Given the description of an element on the screen output the (x, y) to click on. 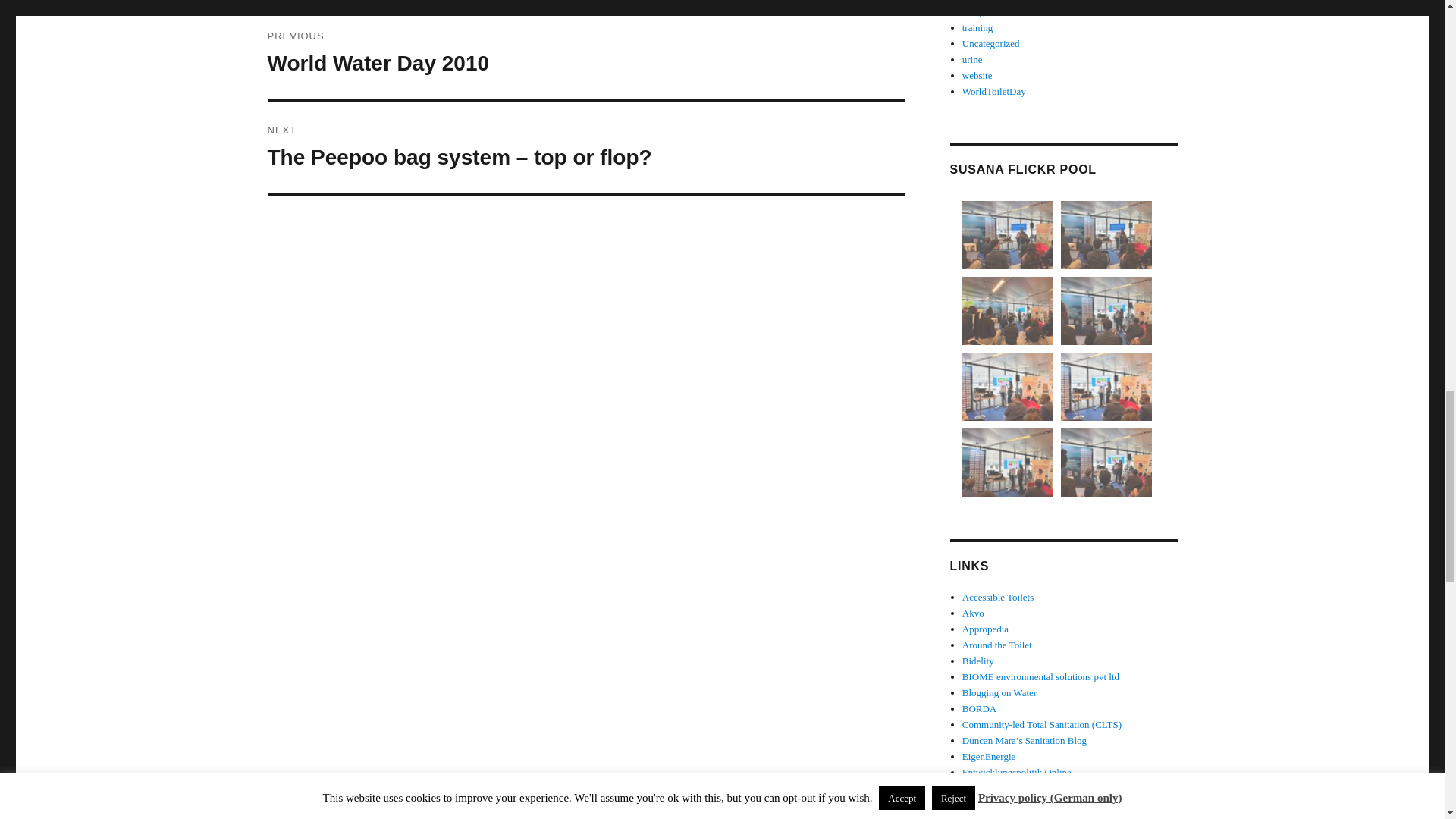
IMG-1496 (1106, 310)
IMG-1499 (1007, 386)
IMG-1492 (1106, 234)
IMG-1494 (1007, 310)
IMG-1493 (1007, 234)
IMG-1495 (1007, 462)
IMG-1498 (585, 52)
IMG-1497 (1106, 386)
